Given the description of an element on the screen output the (x, y) to click on. 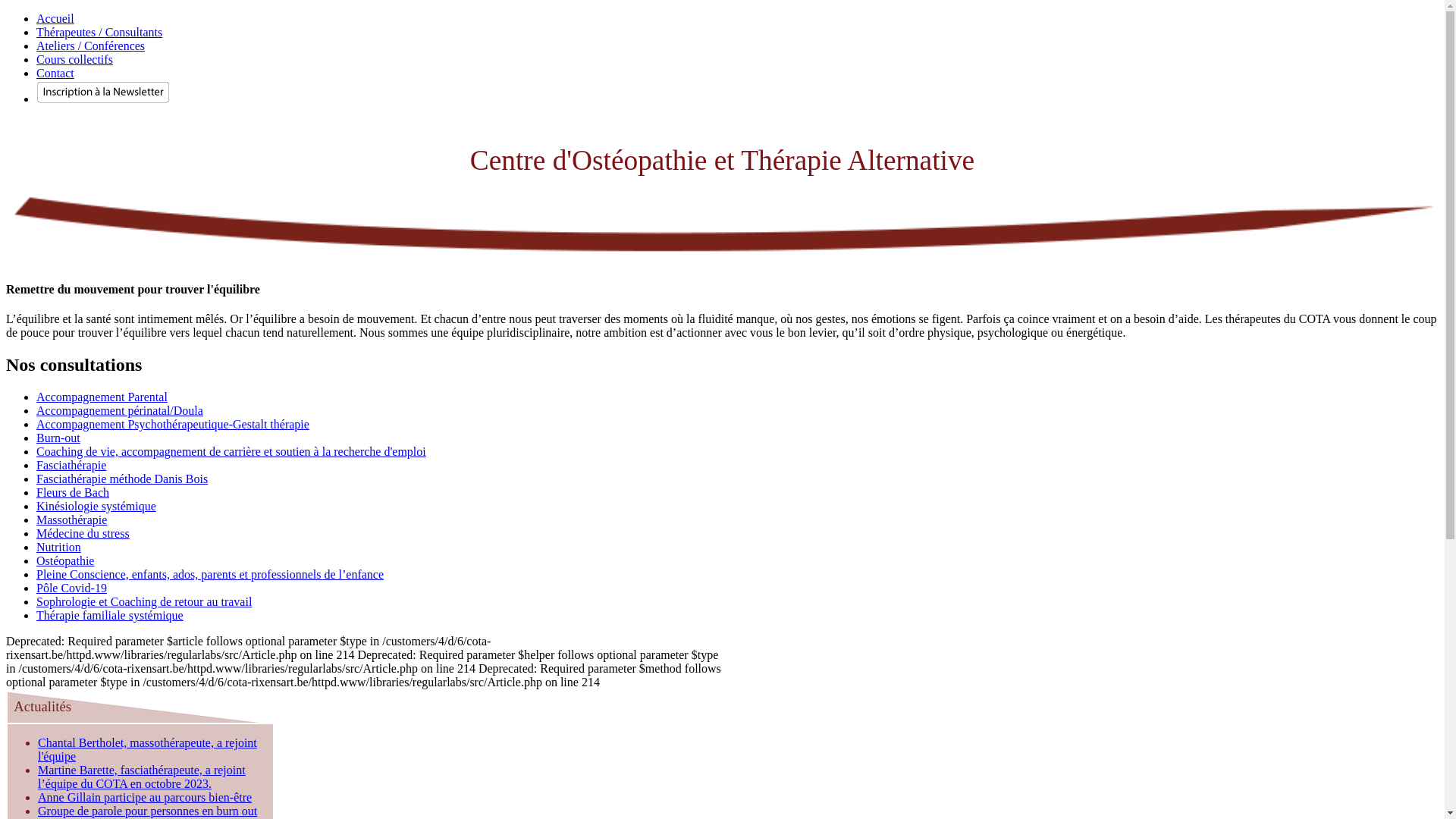
Contact Element type: text (55, 72)
Cours collectifs Element type: text (74, 59)
Accueil Element type: text (55, 18)
Groupe de parole pour personnes en burn out Element type: text (147, 810)
Burn-out Element type: text (58, 437)
Fleurs de Bach Element type: text (72, 492)
Nutrition Element type: text (58, 546)
Sophrologie et Coaching de retour au travail Element type: text (143, 601)
Accompagnement Parental Element type: text (101, 396)
